Given the description of an element on the screen output the (x, y) to click on. 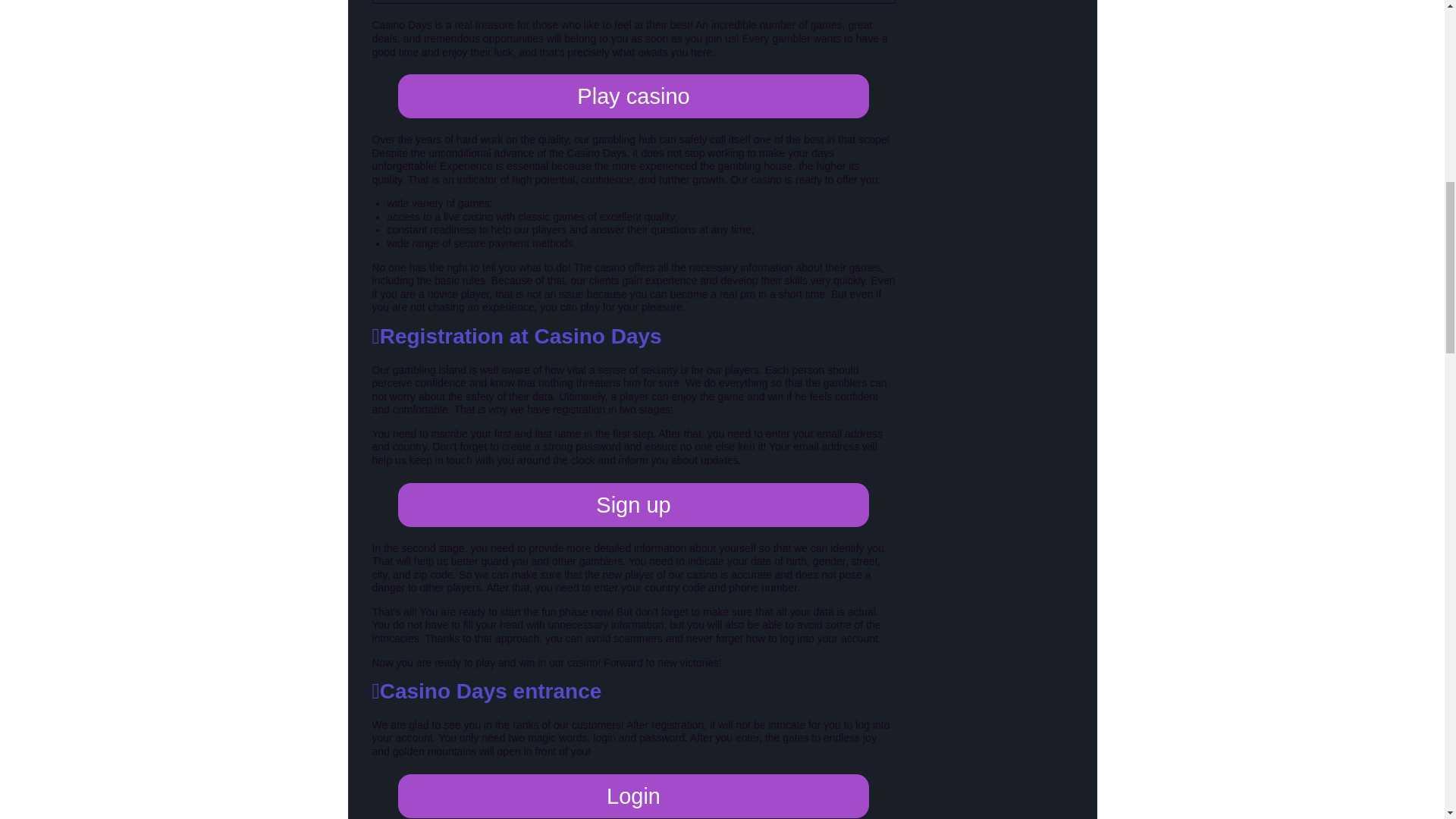
Sign up (633, 505)
Login (633, 795)
Play casino (633, 95)
